Given the description of an element on the screen output the (x, y) to click on. 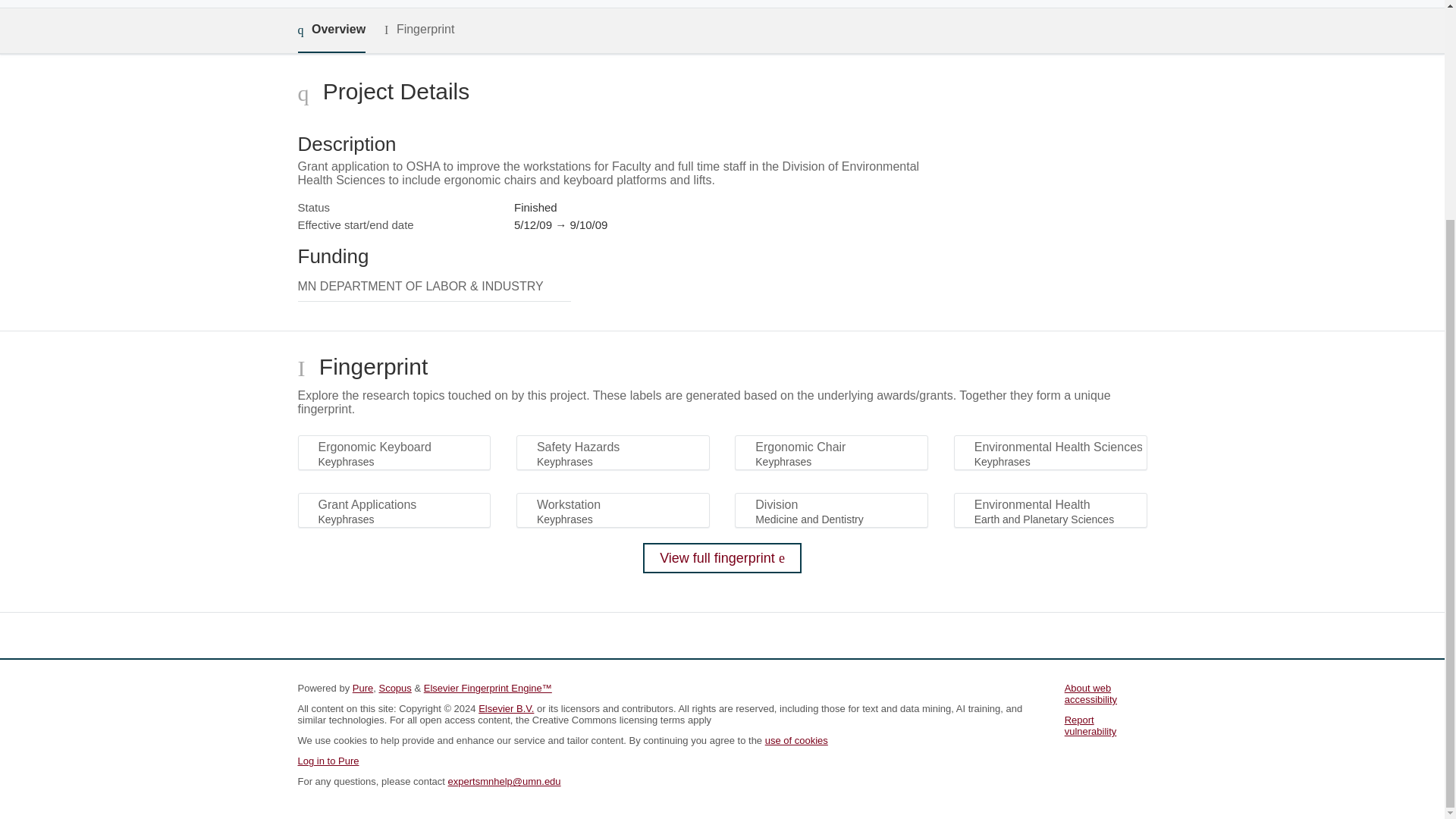
Overview (331, 30)
About web accessibility (1090, 693)
Report vulnerability (1090, 725)
View full fingerprint (722, 557)
Fingerprint (419, 29)
Elsevier B.V. (506, 708)
Log in to Pure (327, 760)
use of cookies (796, 740)
Pure (362, 687)
Scopus (394, 687)
